Given the description of an element on the screen output the (x, y) to click on. 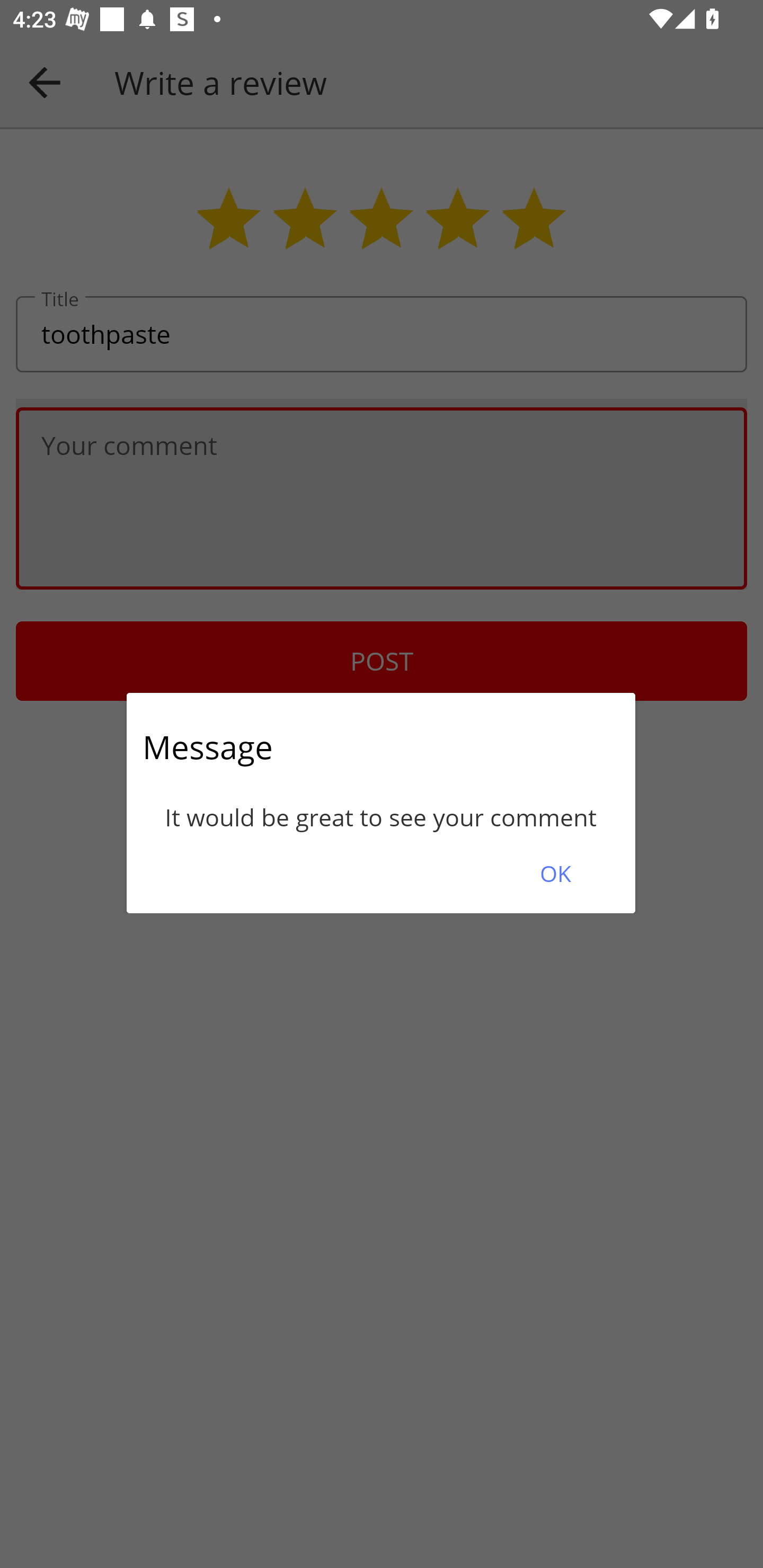
OK (555, 873)
